Given the description of an element on the screen output the (x, y) to click on. 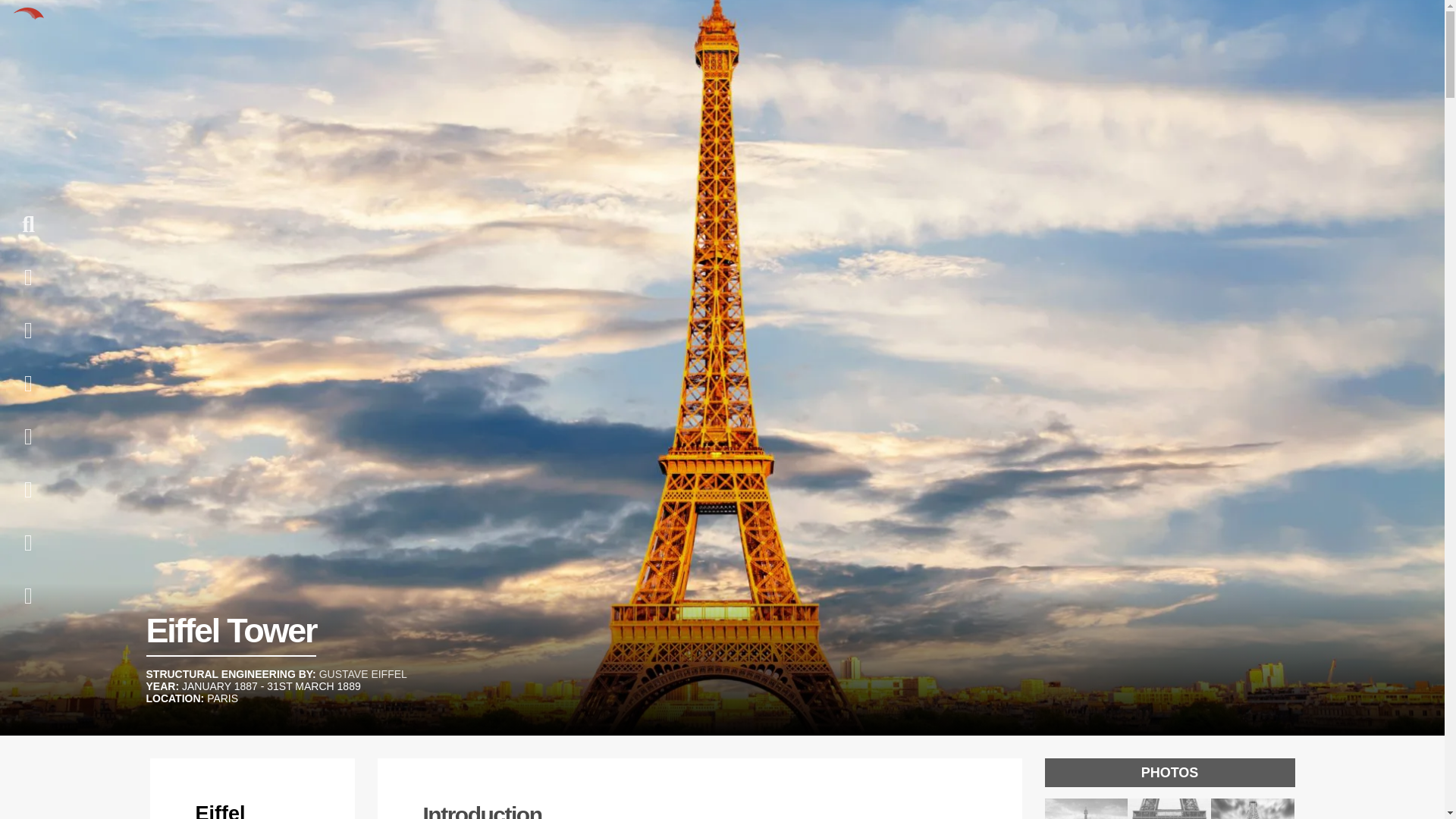
GUSTAVE EIFFEL (362, 674)
PHOTOS (1170, 788)
